Given the description of an element on the screen output the (x, y) to click on. 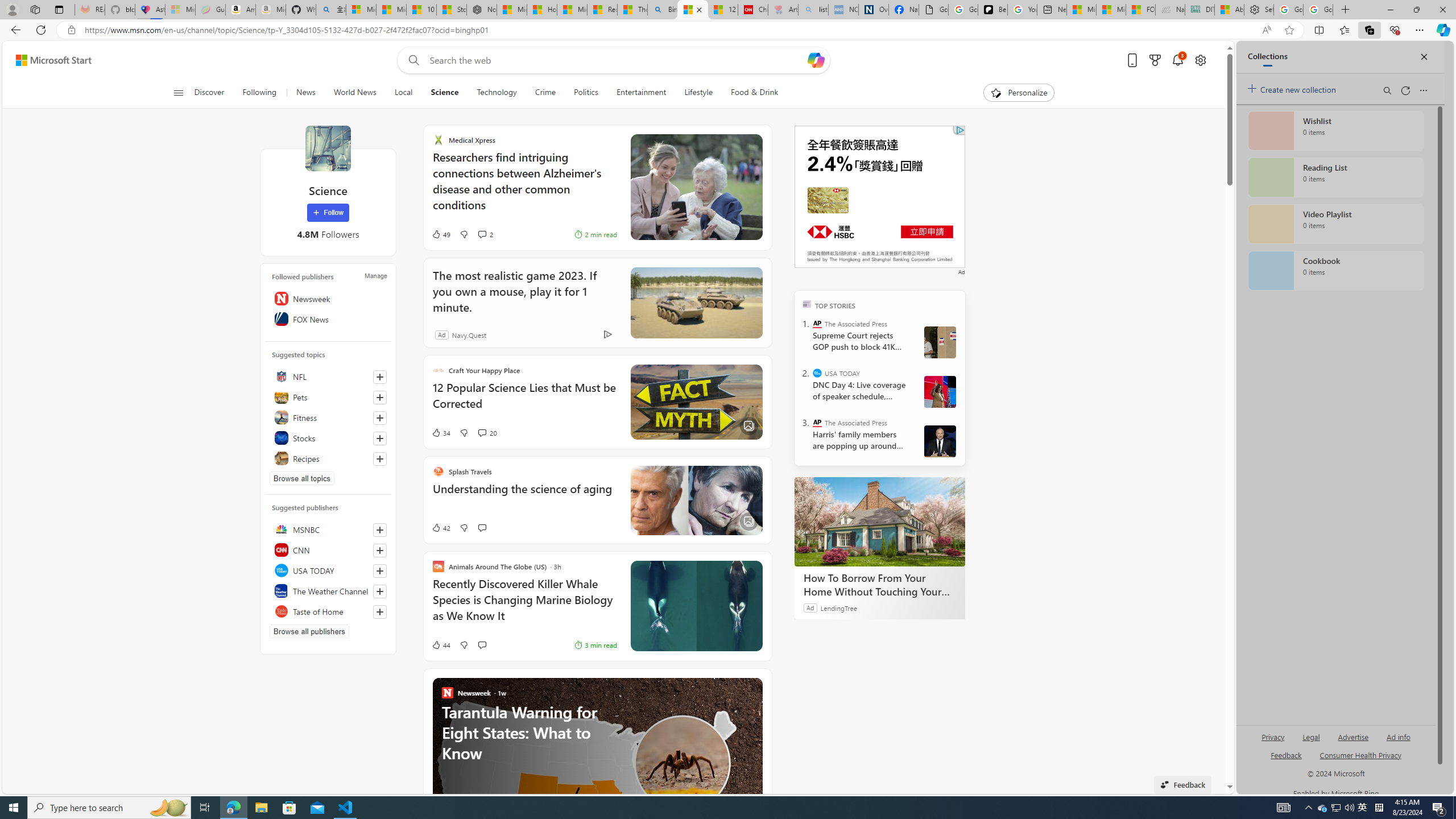
Aberdeen, Hong Kong SAR hourly forecast | Microsoft Weather (1229, 9)
Google Analytics Opt-out Browser Add-on Download Page (933, 9)
Arthritis: Ask Health Professionals - Sleeping (782, 9)
